Given the description of an element on the screen output the (x, y) to click on. 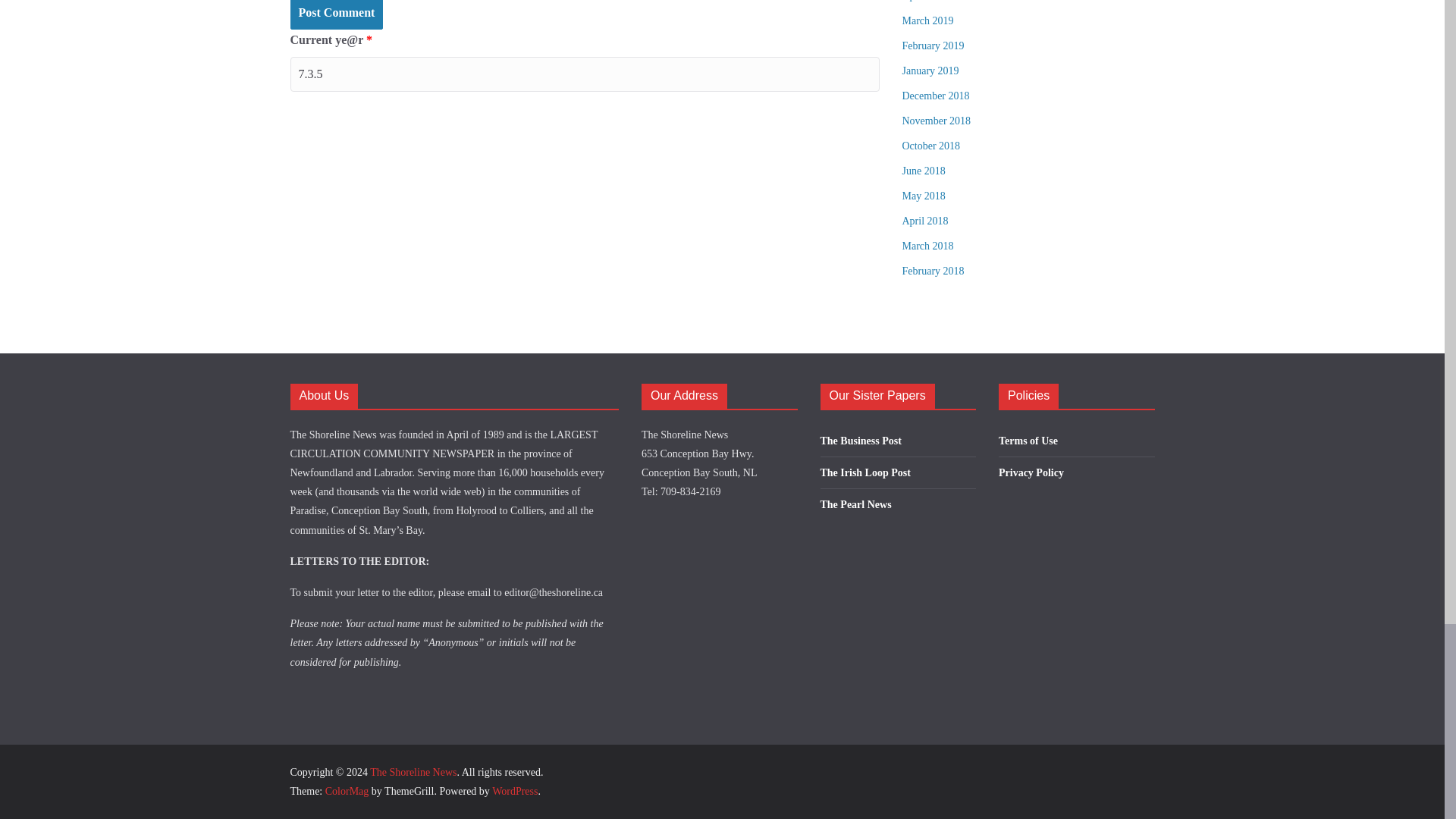
7.3.5 (584, 73)
Post Comment (335, 14)
Post Comment (335, 14)
